Given the description of an element on the screen output the (x, y) to click on. 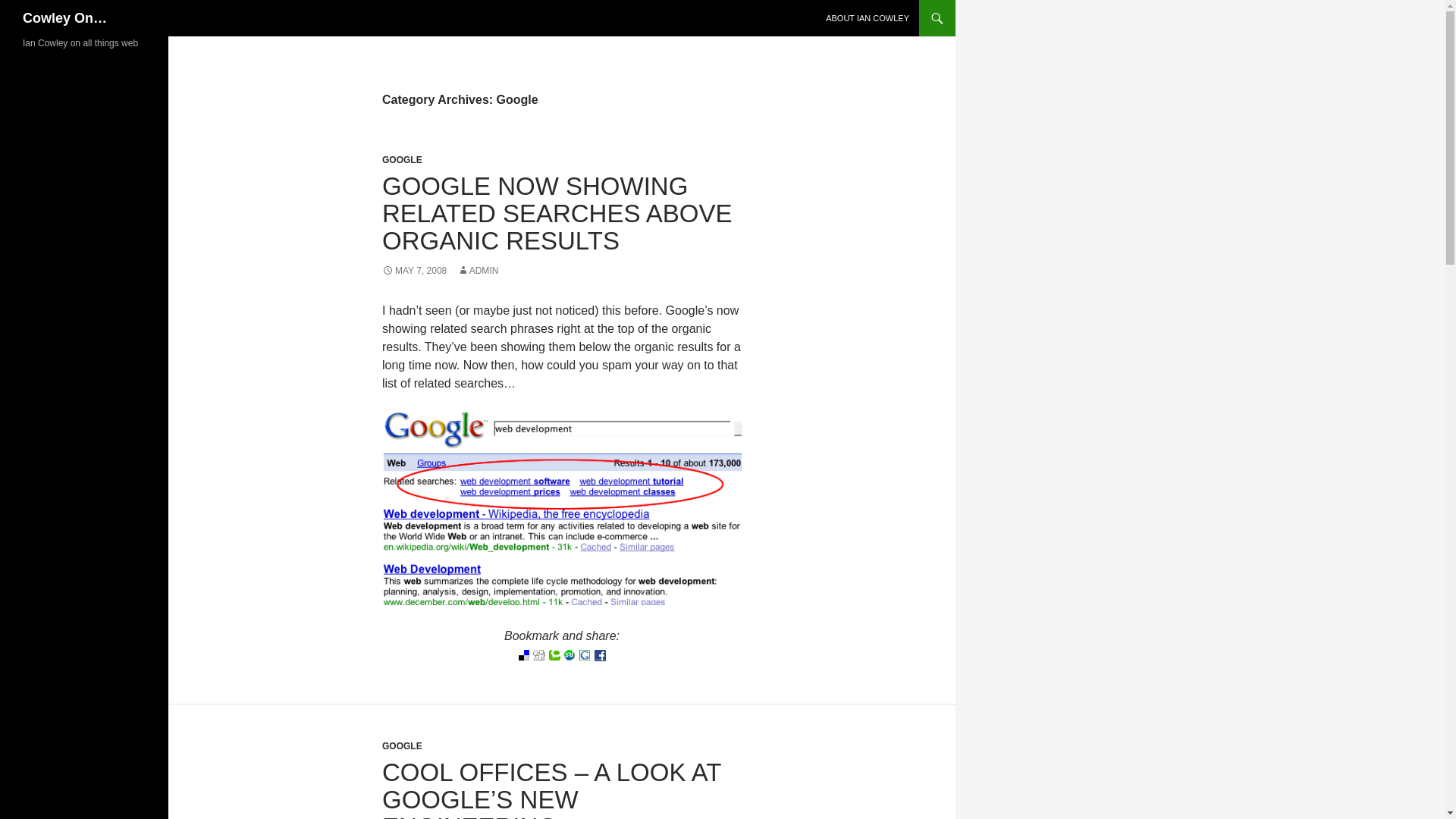
ABOUT IAN COWLEY (867, 18)
GOOGLE (401, 159)
ADMIN (478, 270)
GOOGLE NOW SHOWING RELATED SEARCHES ABOVE ORGANIC RESULTS (556, 212)
